Given the description of an element on the screen output the (x, y) to click on. 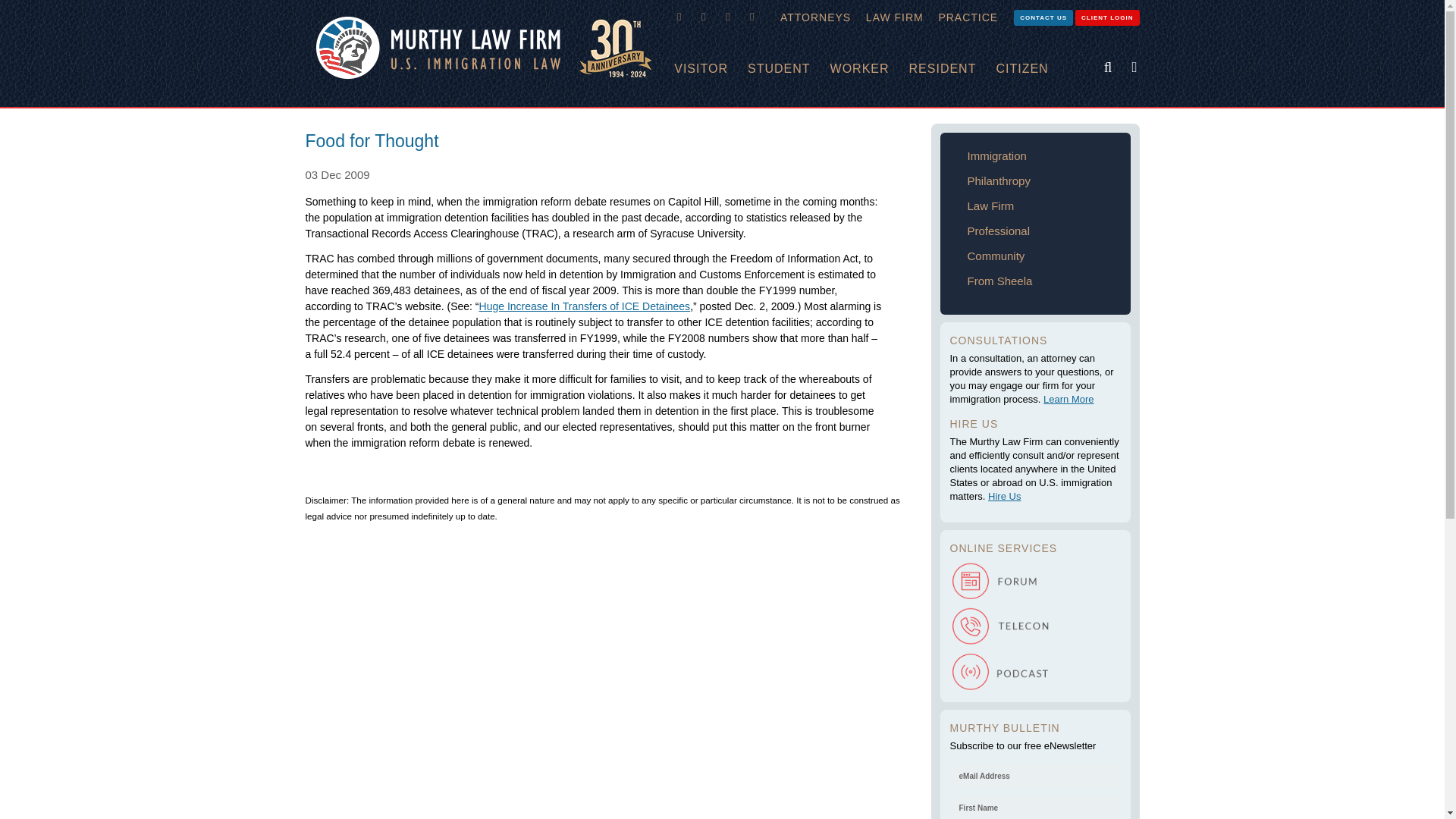
ATTORNEYS (815, 17)
RESIDENT (951, 69)
WORKER (868, 69)
VISITOR (711, 69)
PRACTICE (967, 17)
STUDENT (788, 69)
LAW FIRM (895, 17)
CONTACT US (1043, 17)
CLIENT LOGIN (1106, 17)
